Given the description of an element on the screen output the (x, y) to click on. 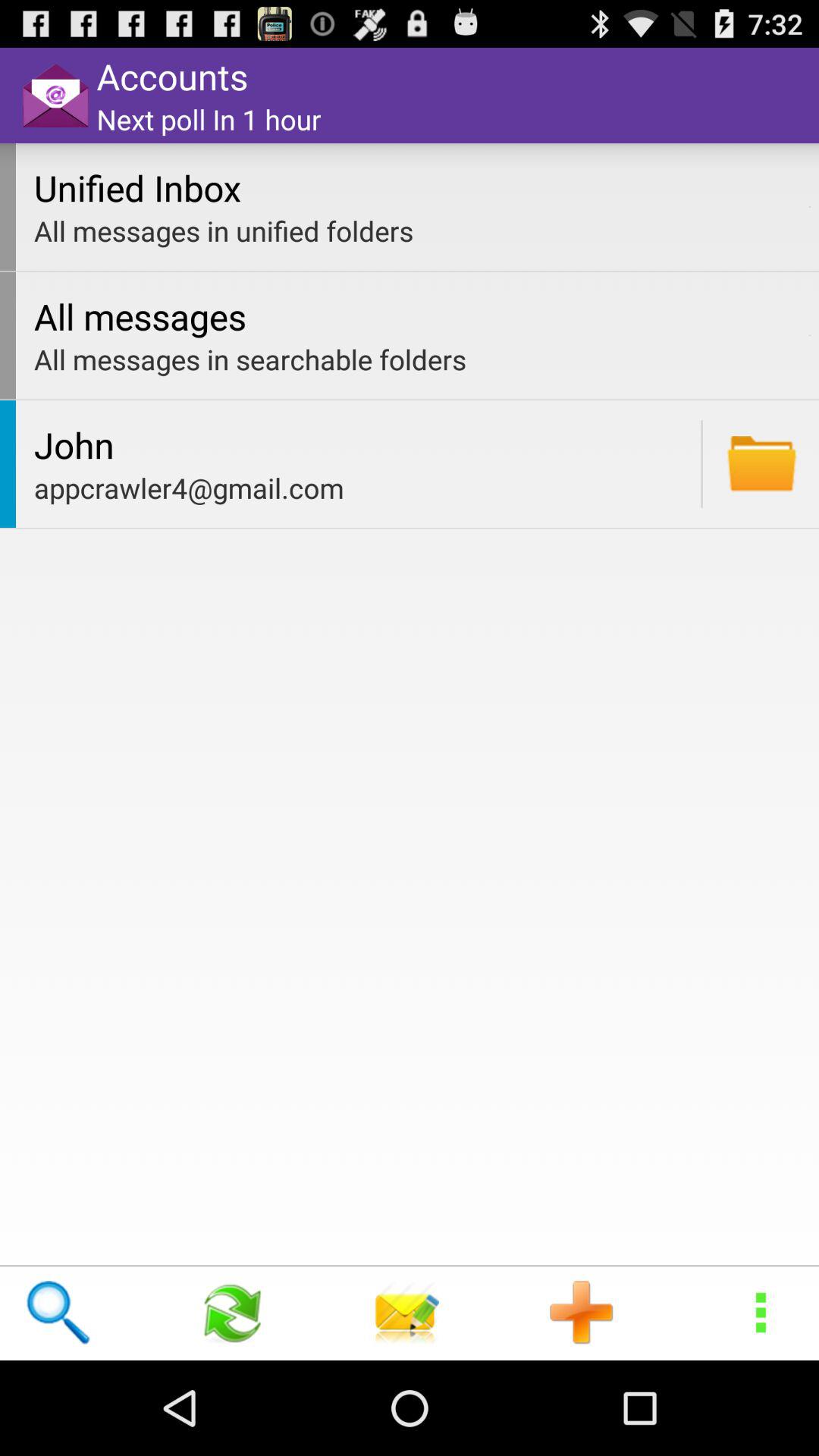
open mail (761, 463)
